Given the description of an element on the screen output the (x, y) to click on. 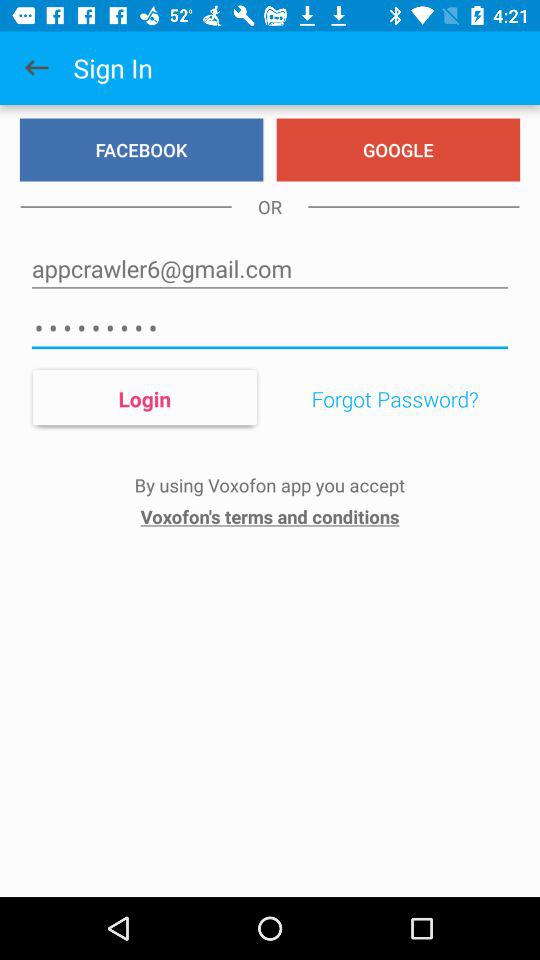
open icon below sign in item (141, 149)
